Given the description of an element on the screen output the (x, y) to click on. 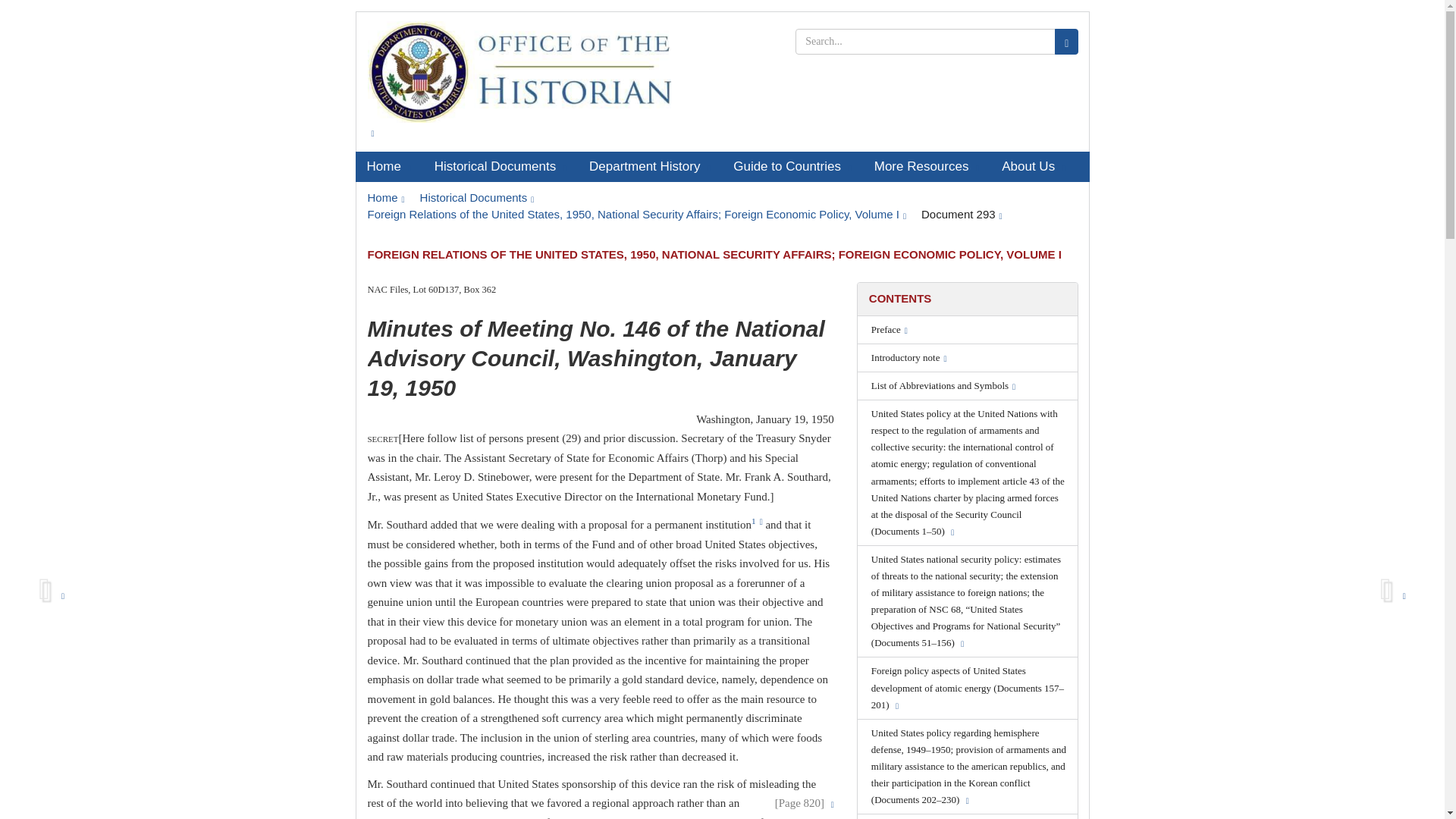
More Resources (926, 166)
Historical Documents (477, 196)
Guide to Countries (792, 166)
Historical Documents (500, 166)
Home (385, 196)
Department History (650, 166)
Home (388, 166)
Document 293 (962, 214)
About Us (1033, 166)
